Given the description of an element on the screen output the (x, y) to click on. 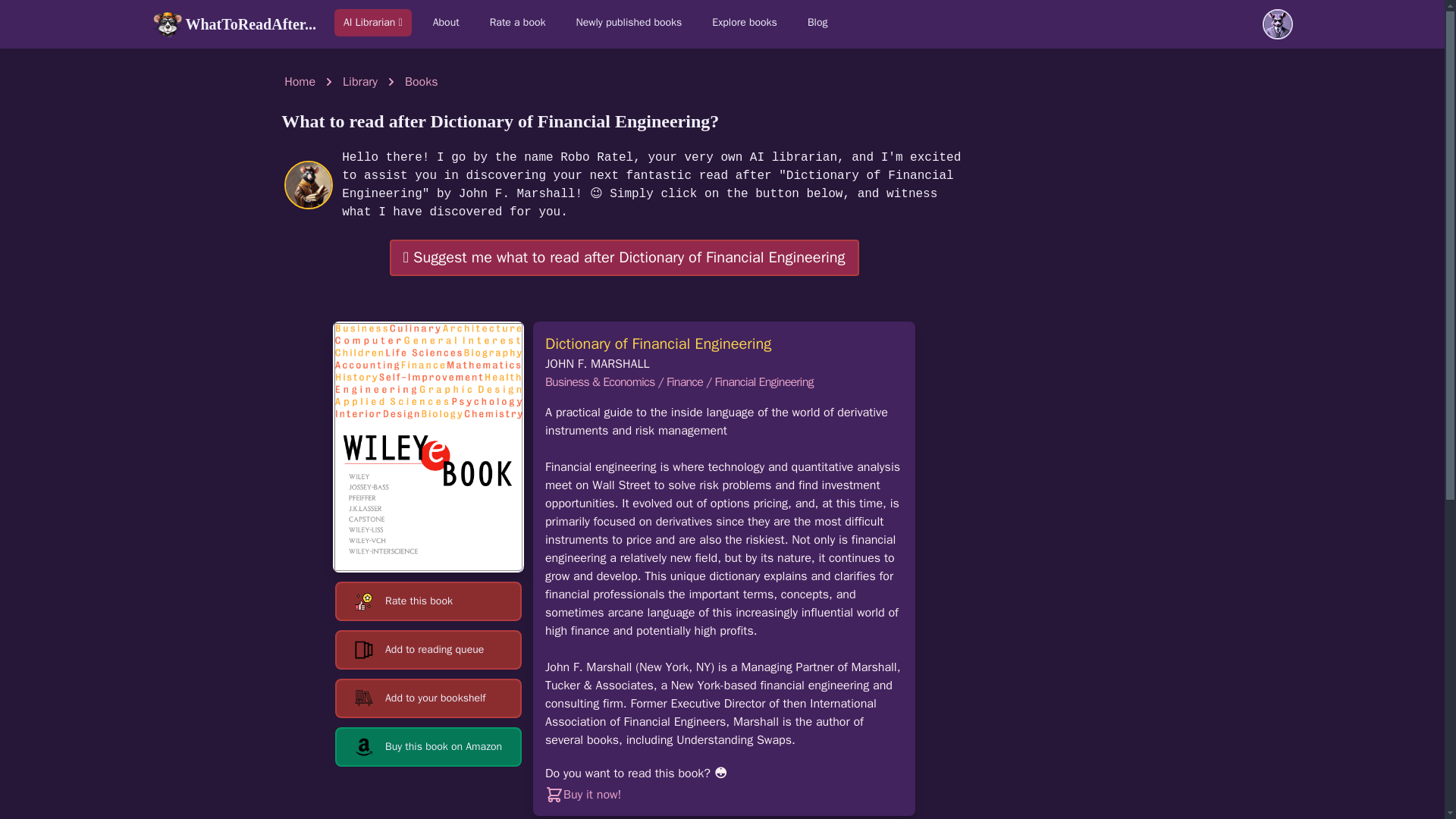
Newly published books (629, 22)
Explore books (744, 22)
Rate a Dictionary of Financial Engineering book (427, 600)
Rate this book (427, 600)
Books by John F. Marshall (596, 363)
Open user menu (1277, 24)
Explore books (744, 22)
Books (421, 81)
Rate a book (517, 22)
Rate a book (517, 22)
